Given the description of an element on the screen output the (x, y) to click on. 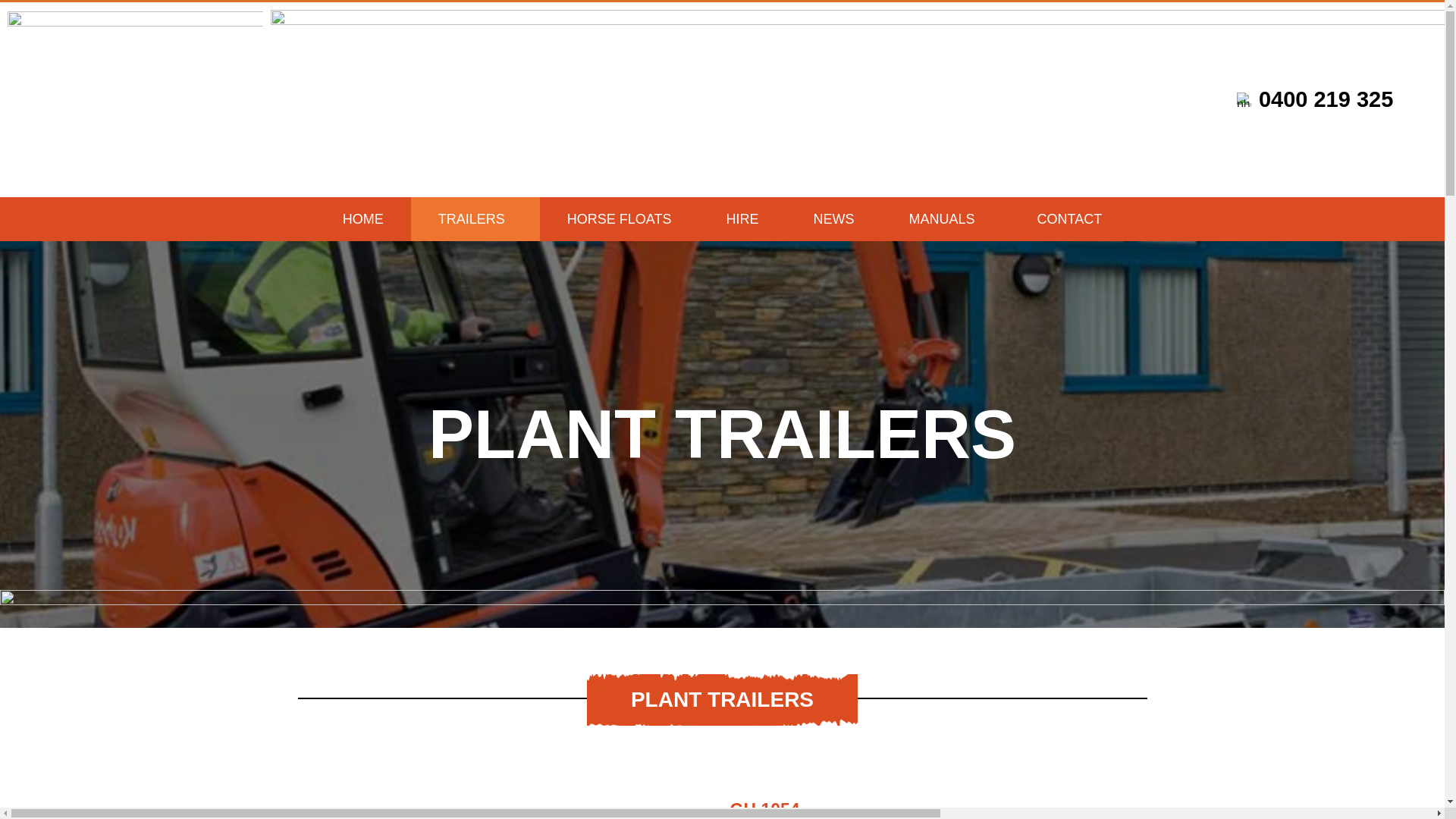
HIRE (742, 218)
CONTACT (1069, 218)
TRAILERS (475, 218)
HORSE FLOATS (619, 218)
HOME (362, 218)
NEWS (834, 218)
MANUALS (946, 218)
